Given the description of an element on the screen output the (x, y) to click on. 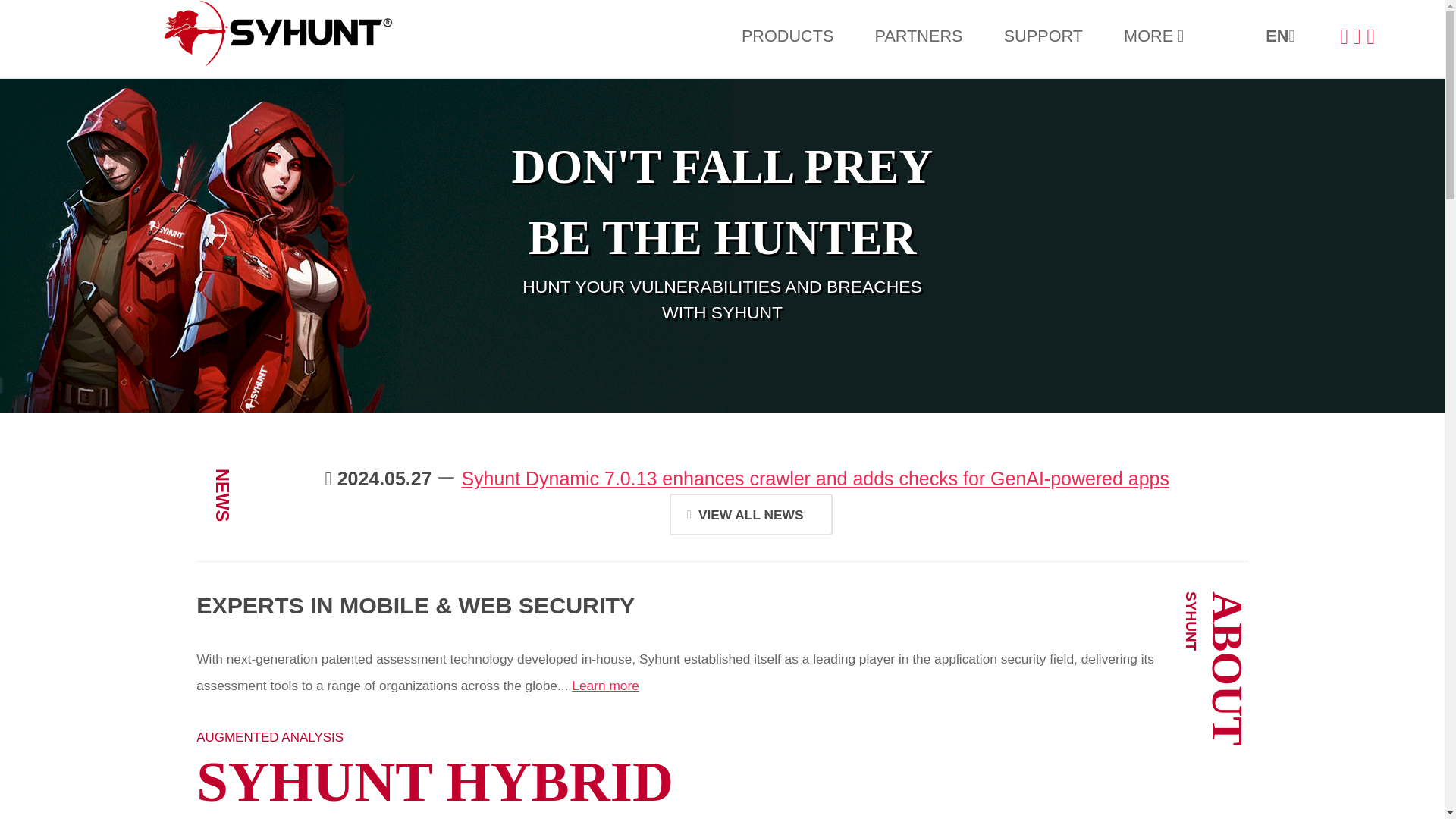
VIEW ALL NEWS (749, 514)
SUPPORT (1043, 36)
PRODUCTS (787, 36)
PARTNERS (918, 36)
Learn more (605, 685)
